Given the description of an element on the screen output the (x, y) to click on. 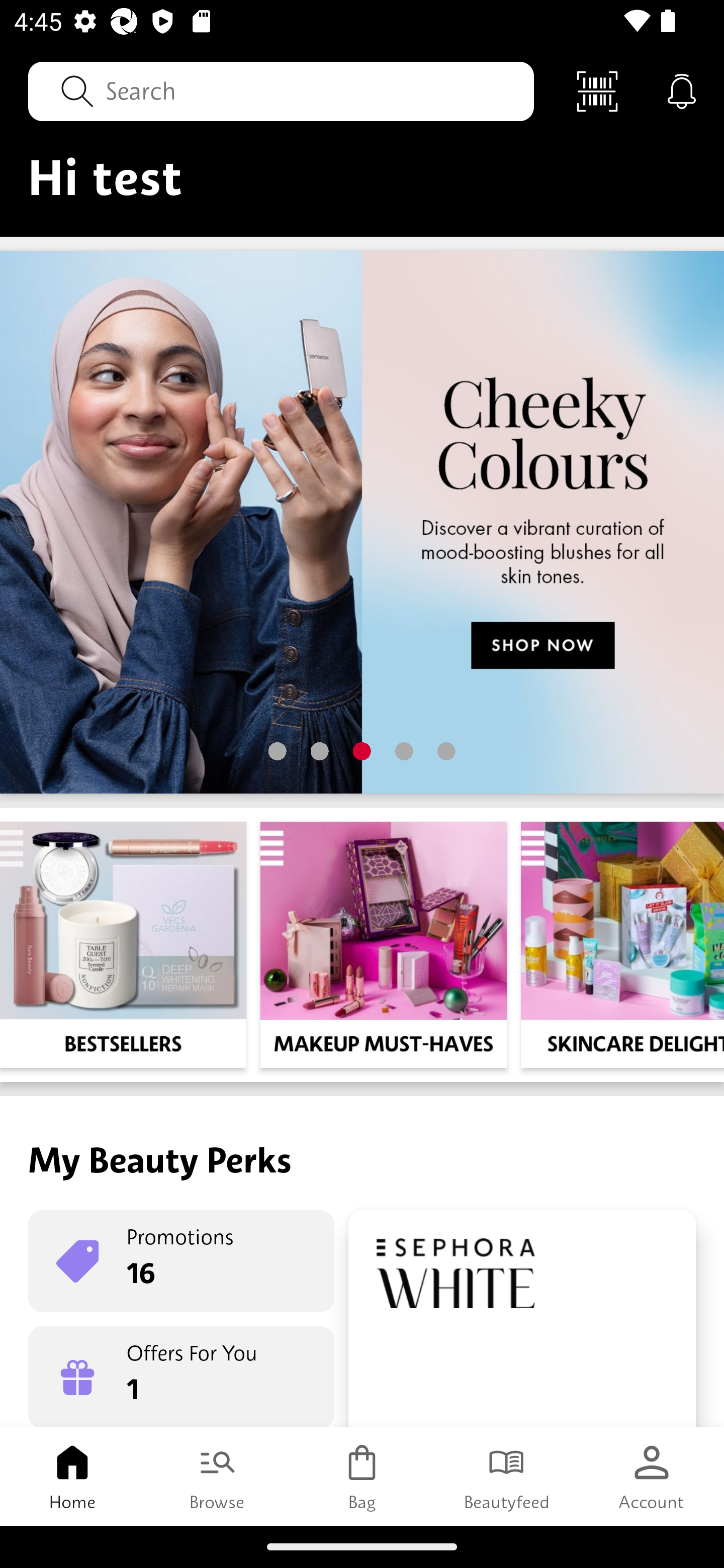
Scan Code (597, 90)
Notifications (681, 90)
Search (281, 90)
Promotions 16 (181, 1261)
Rewards Boutique 90 Pts (521, 1318)
Offers For You 1 (181, 1376)
Browse (216, 1475)
Bag (361, 1475)
Beautyfeed (506, 1475)
Account (651, 1475)
